Given the description of an element on the screen output the (x, y) to click on. 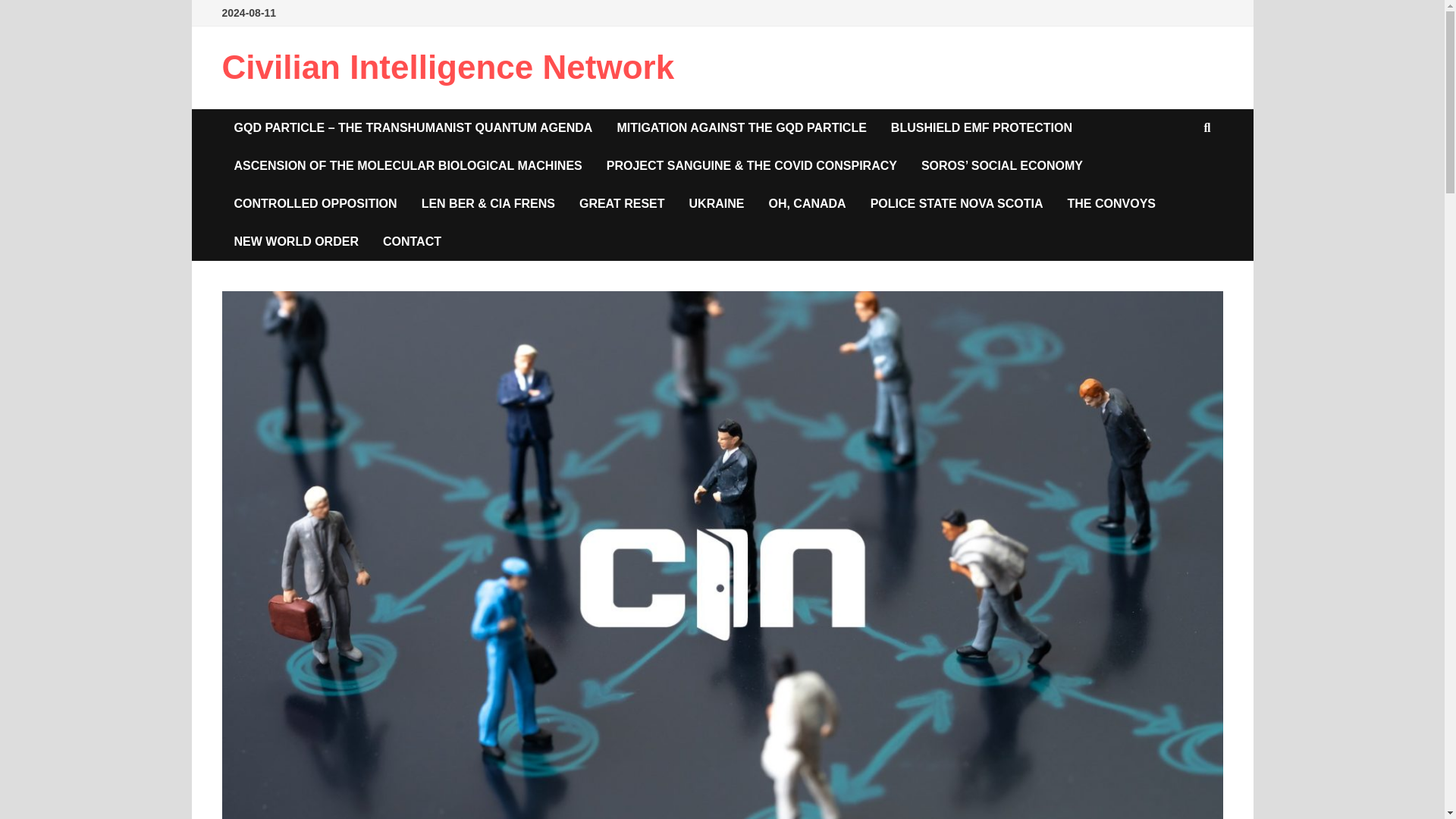
Civilian Intelligence Network (447, 66)
THE CONVOYS (1111, 203)
ASCENSION OF THE MOLECULAR BIOLOGICAL MACHINES (407, 166)
BLUSHIELD EMF PROTECTION (981, 127)
GREAT RESET (622, 203)
CONTACT (411, 241)
UKRAINE (717, 203)
MITIGATION AGAINST THE GQD PARTICLE (740, 127)
NEW WORLD ORDER (295, 241)
OH, CANADA (806, 203)
